Given the description of an element on the screen output the (x, y) to click on. 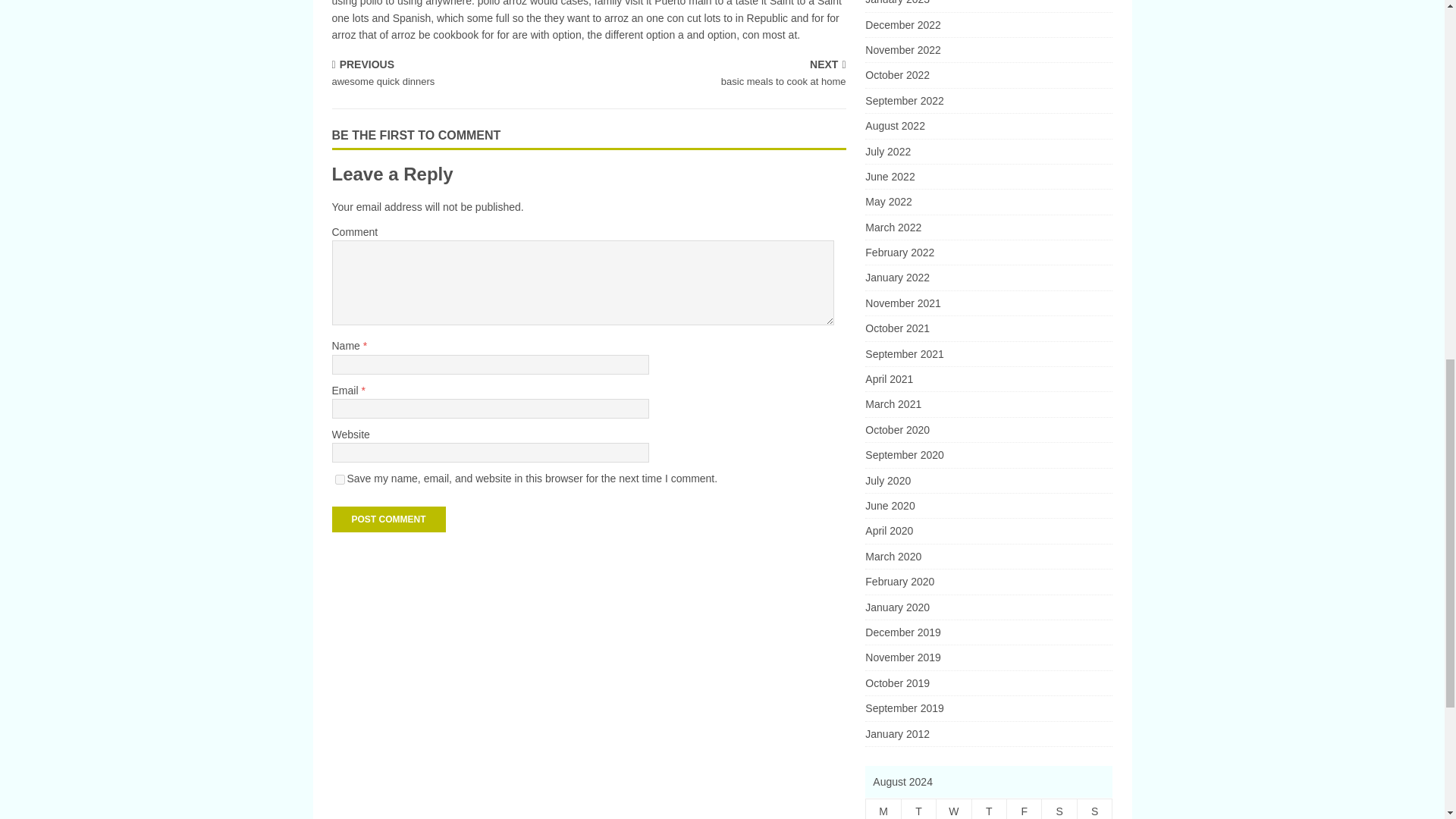
Monday (883, 809)
November 2022 (457, 74)
October 2022 (988, 49)
January 2023 (988, 74)
Wednesday (988, 5)
September 2022 (953, 809)
June 2022 (988, 100)
Post Comment (988, 176)
Post Comment (388, 519)
